Given the description of an element on the screen output the (x, y) to click on. 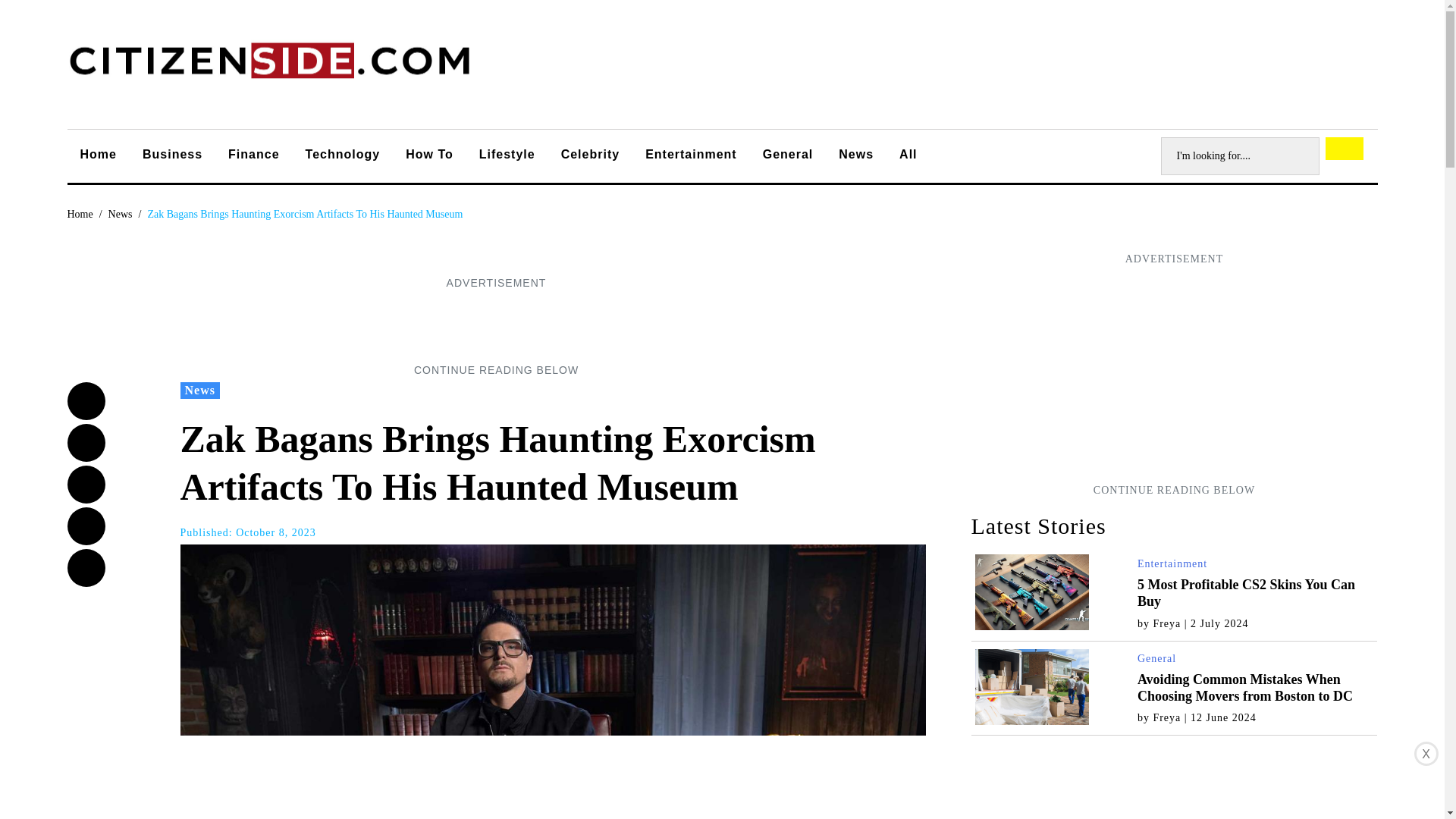
Home (97, 156)
Celebrity (589, 156)
Finance (253, 156)
Business (172, 156)
Share on Twitter (85, 442)
Share on Pinterest (85, 567)
Share on LinkedIn (85, 525)
Technology (342, 156)
Lifestyle (506, 156)
Share on Facebook (85, 401)
Search for: (1239, 156)
News (855, 156)
Home (79, 214)
General (1156, 658)
News (199, 390)
